Given the description of an element on the screen output the (x, y) to click on. 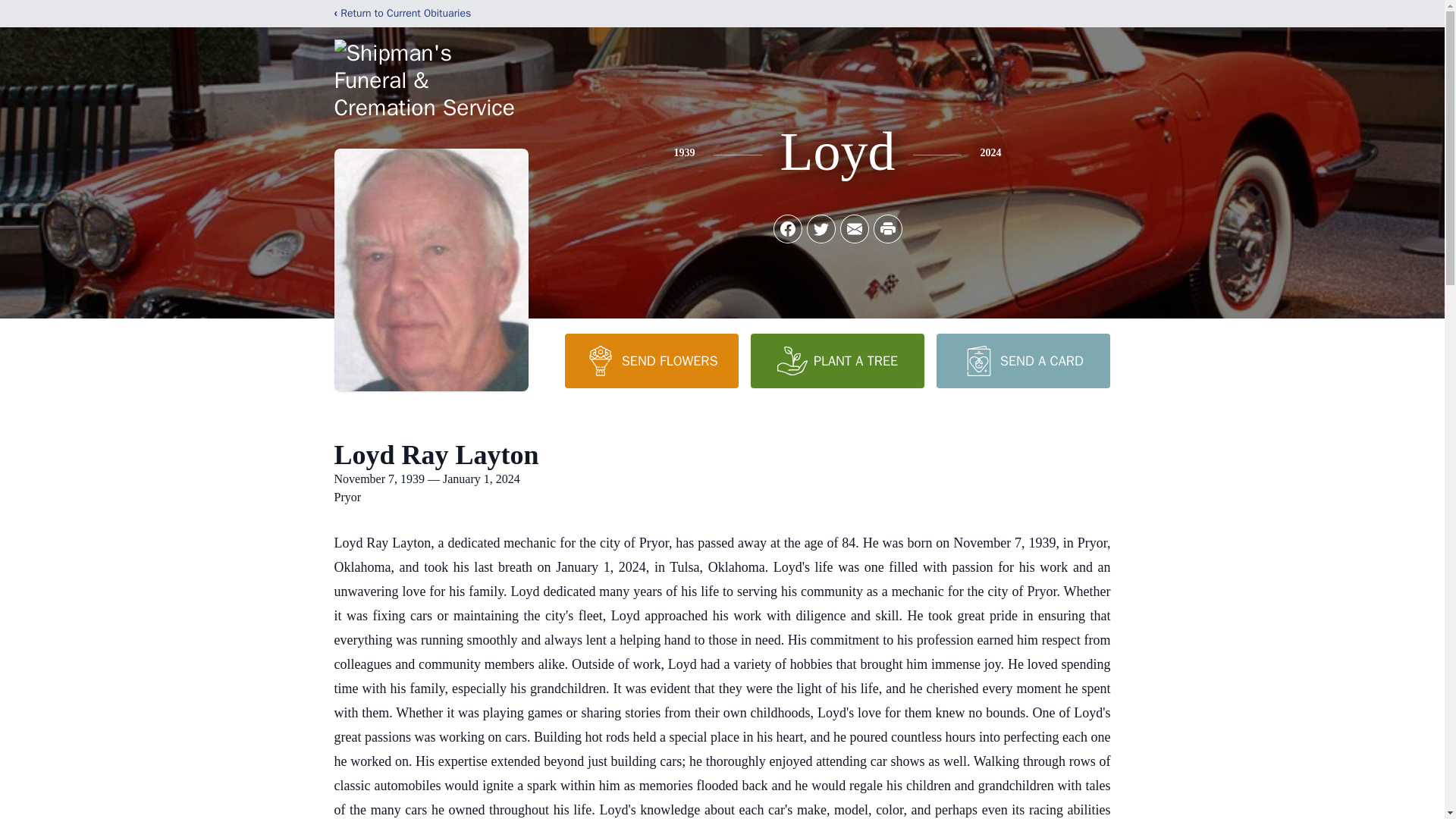
PLANT A TREE (837, 360)
SEND FLOWERS (651, 360)
SEND A CARD (1022, 360)
